Given the description of an element on the screen output the (x, y) to click on. 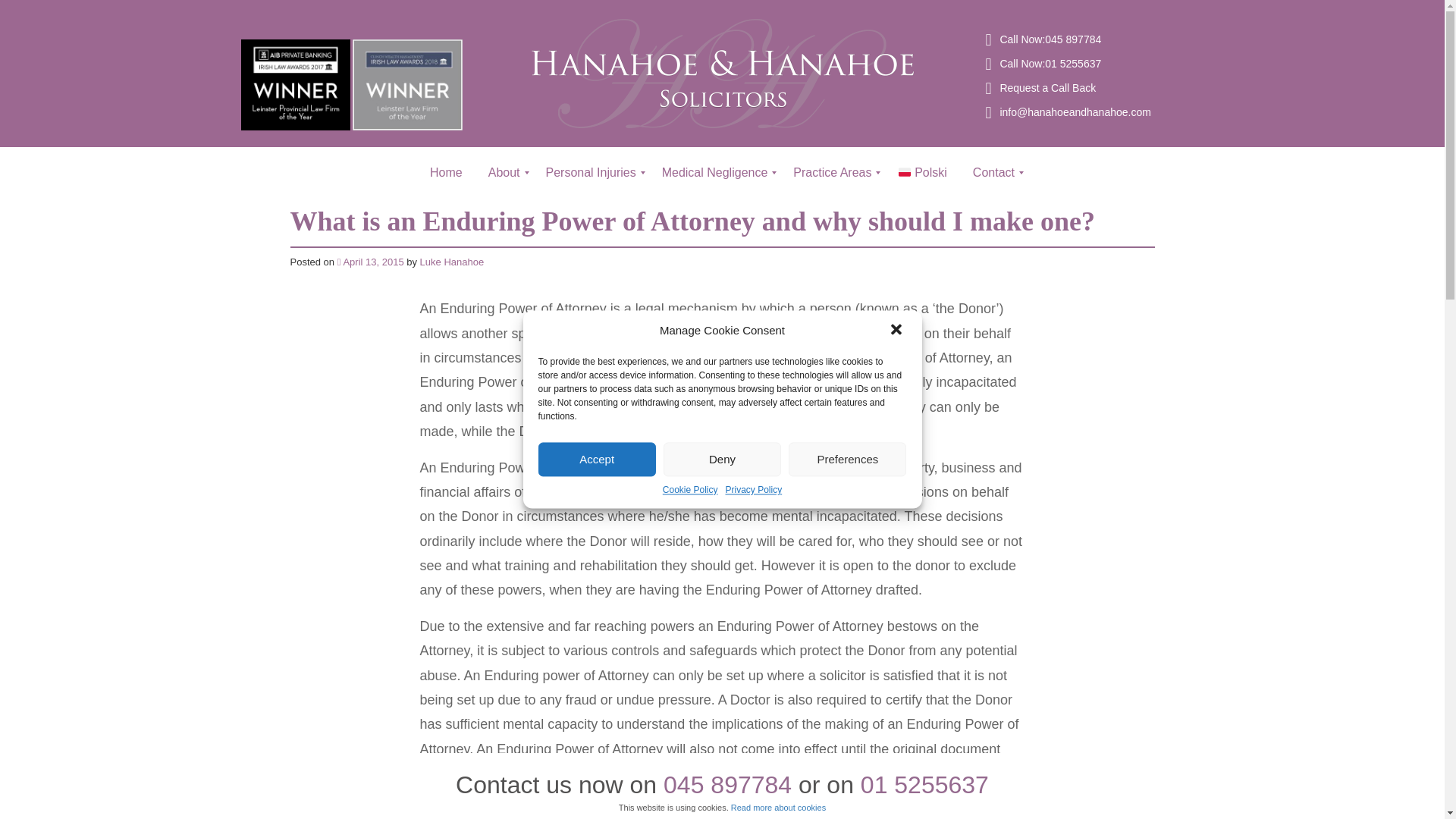
Cookie Policy (689, 490)
Request a Call Back (1047, 87)
Accept (597, 458)
Privacy Policy (753, 490)
01 5255637 (1072, 63)
Home (446, 172)
Personal Injuries (590, 172)
Deny (721, 458)
Medical Negligence (714, 172)
045 897784 (1072, 39)
Preferences (847, 458)
